Given the description of an element on the screen output the (x, y) to click on. 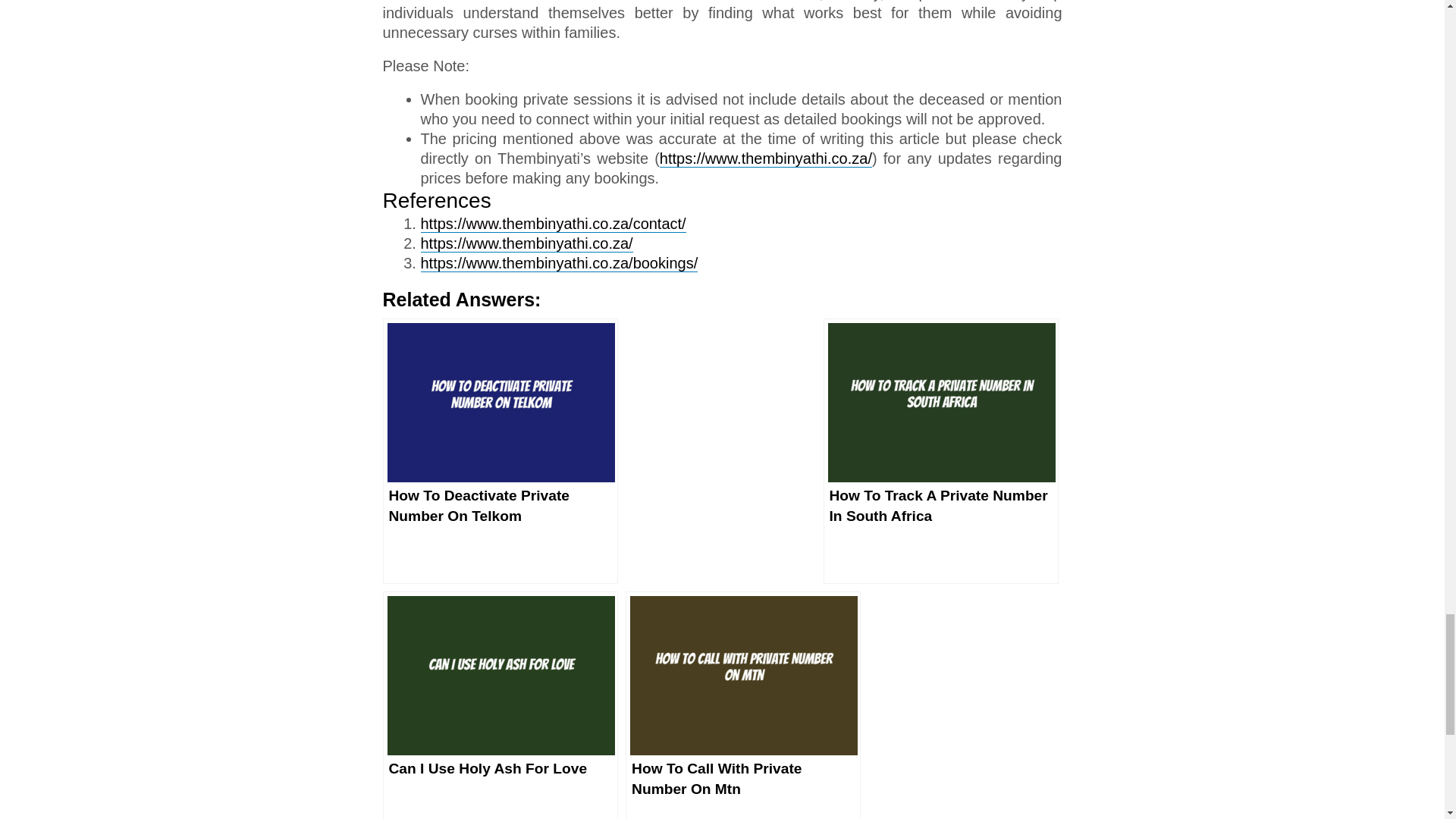
Can I Use Holy Ash For Love (499, 705)
How To Call With Private Number On Mtn (743, 705)
How To Call With Private Number On Mtn (743, 705)
Can I Use Holy Ash For Love (499, 705)
